Given the description of an element on the screen output the (x, y) to click on. 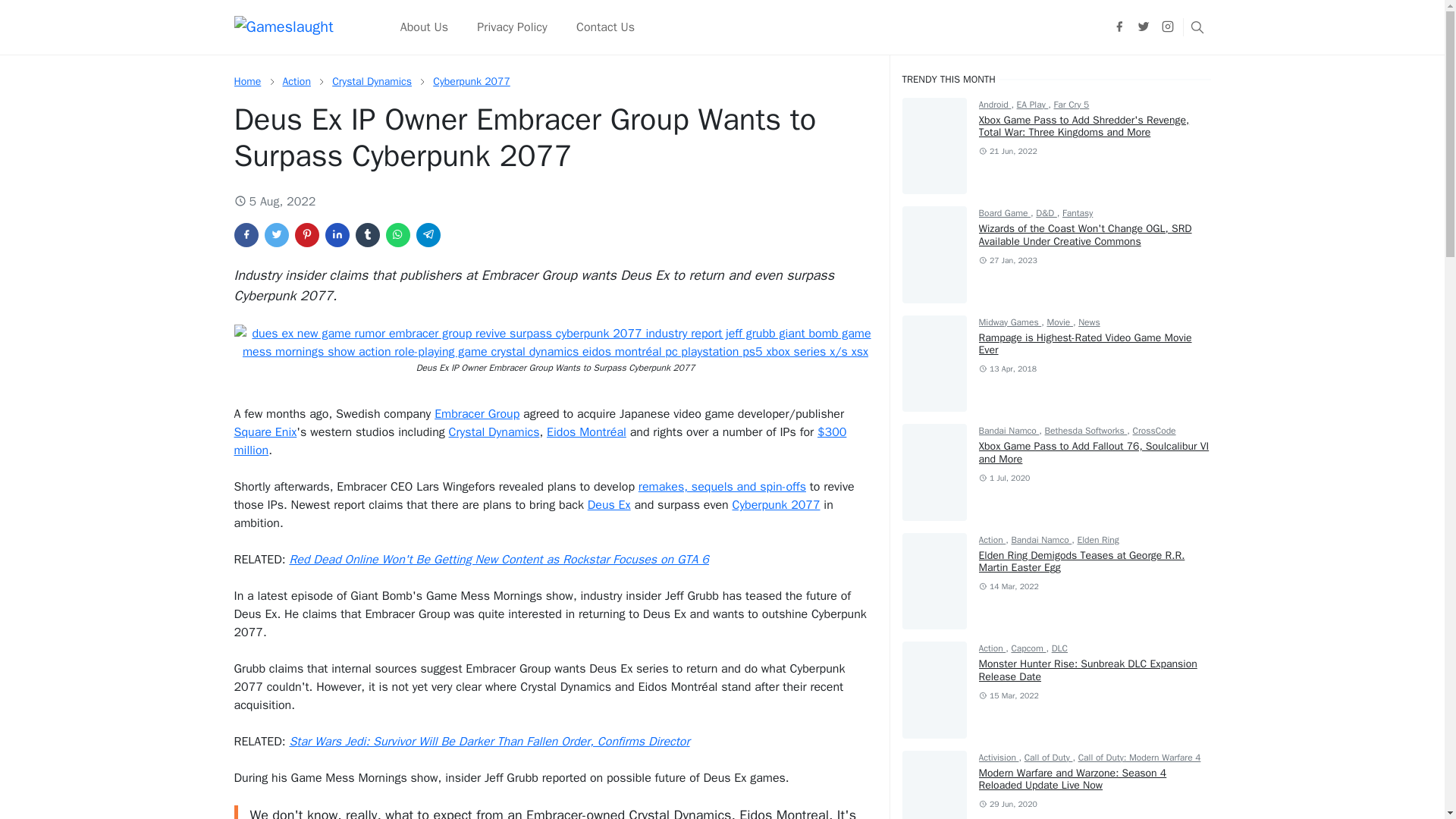
Cyberpunk 2077 (471, 81)
Home (246, 81)
Contact Us (605, 27)
Action (296, 81)
Home (246, 81)
Share to telegram (426, 234)
Crystal Dynamics (371, 81)
Privacy Policy (512, 27)
Pin It (306, 234)
